Given the description of an element on the screen output the (x, y) to click on. 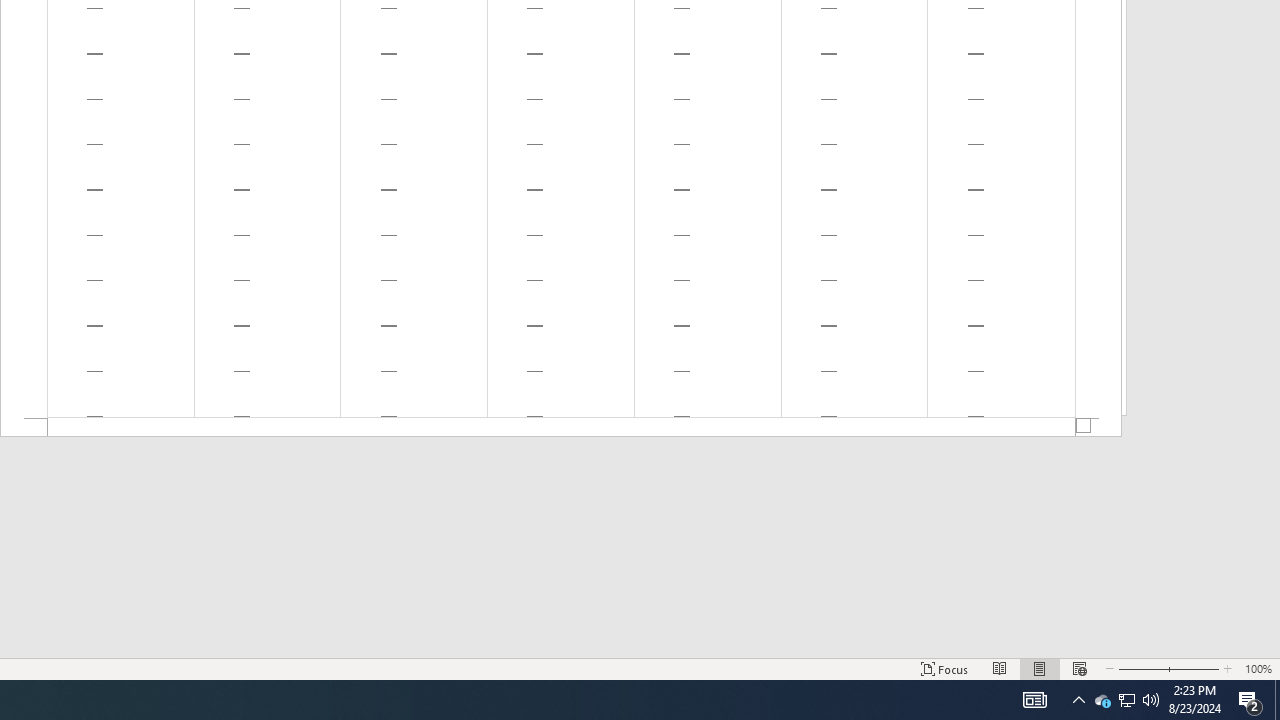
Web Layout (1079, 668)
Print Layout (1039, 668)
Zoom In (1195, 668)
Read Mode (1000, 668)
Footer -Section 1- (561, 427)
Zoom Out (1142, 668)
Focus  (944, 668)
